Given the description of an element on the screen output the (x, y) to click on. 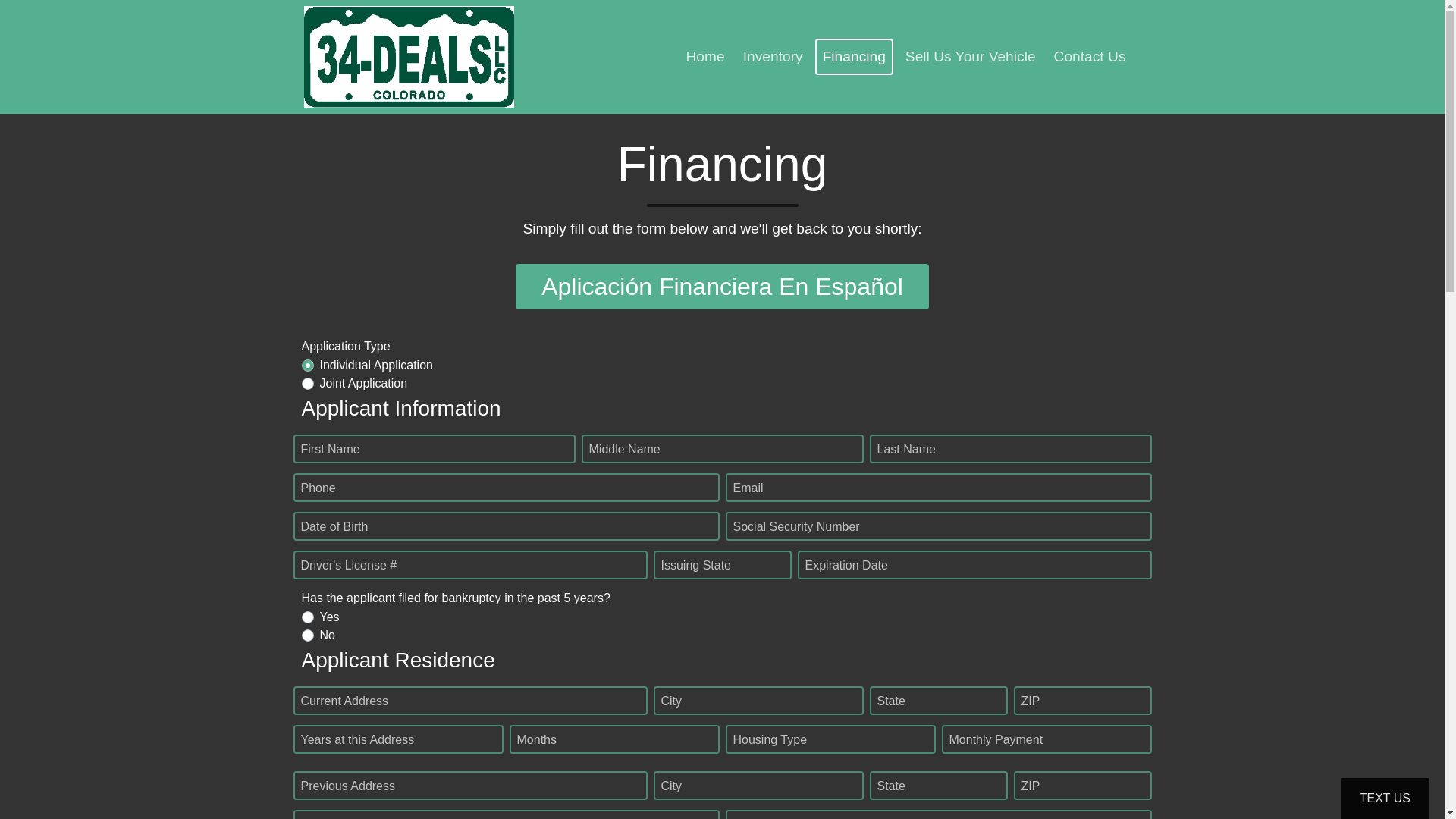
Contact Us Element type: text (1090, 57)
Inventory Element type: text (773, 57)
Financing Element type: text (854, 56)
Sell Us Your Vehicle Element type: text (970, 57)
Home Element type: text (705, 57)
